Given the description of an element on the screen output the (x, y) to click on. 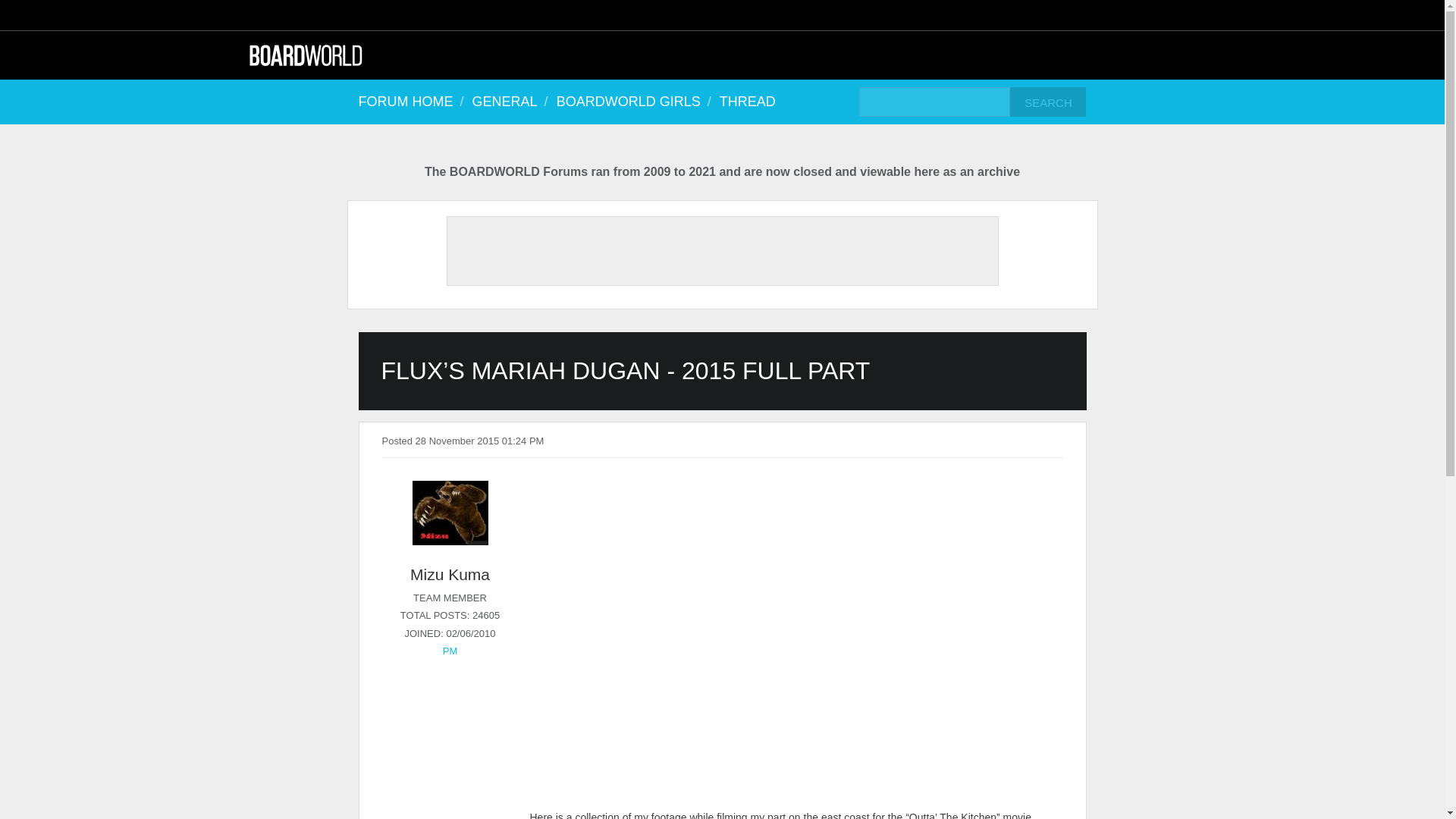
BOARDWORLD GIRLS (636, 101)
GENERAL (512, 101)
FORUM HOME (412, 101)
Search (1048, 101)
PM (450, 650)
Search (1048, 101)
Mizu Kuma (449, 574)
